Given the description of an element on the screen output the (x, y) to click on. 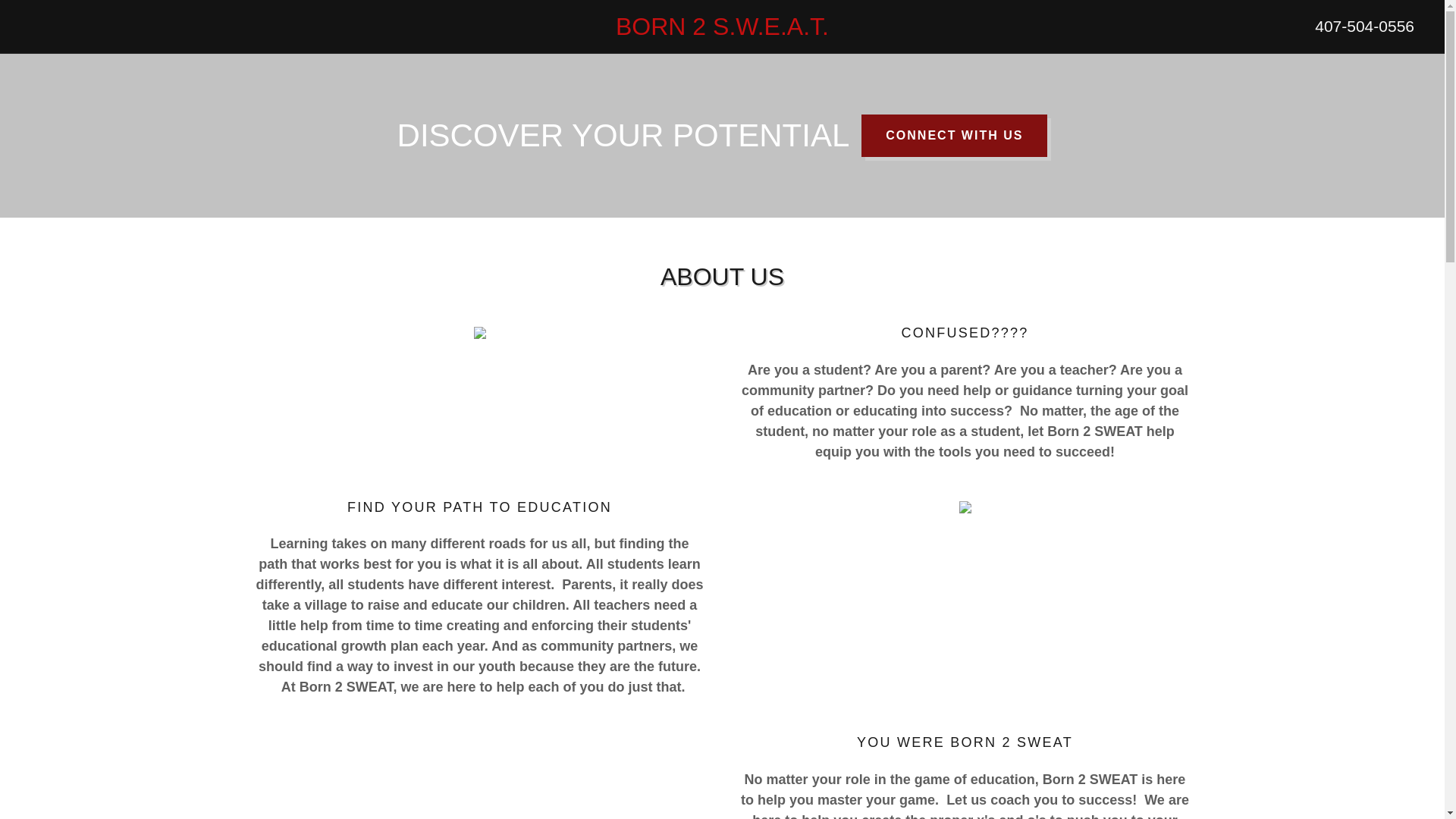
BORN 2 S.W.E.A.T. (722, 29)
Born 2 S.W.E.A.T. (722, 29)
CONNECT WITH US (953, 135)
407-504-0556 (1363, 26)
